Given the description of an element on the screen output the (x, y) to click on. 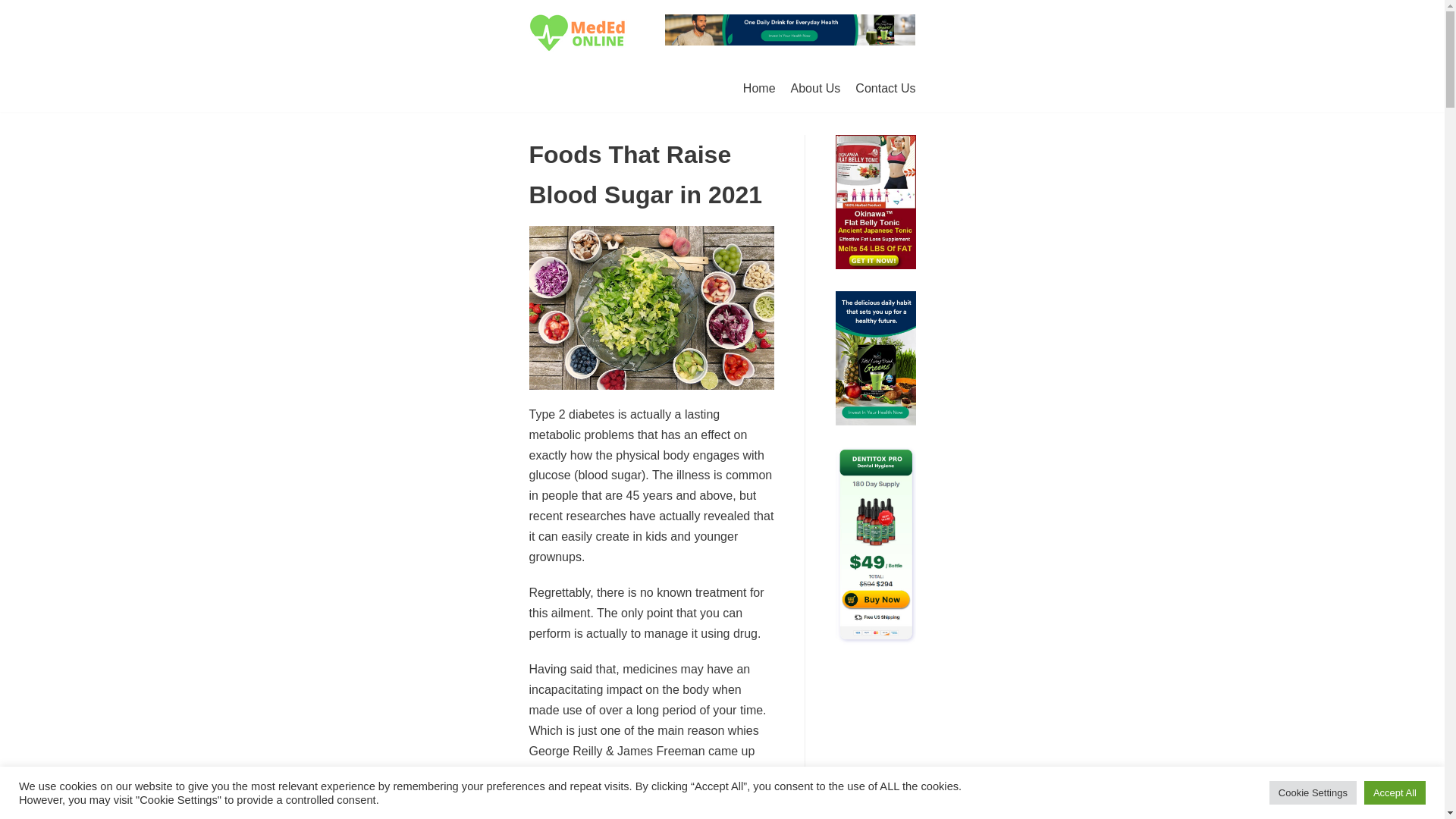
Accept All (1394, 792)
About Us (815, 88)
Home (759, 88)
Cookie Settings (1312, 792)
MedEd Online (580, 32)
Contact Us (885, 88)
Skip to content (15, 7)
